Given the description of an element on the screen output the (x, y) to click on. 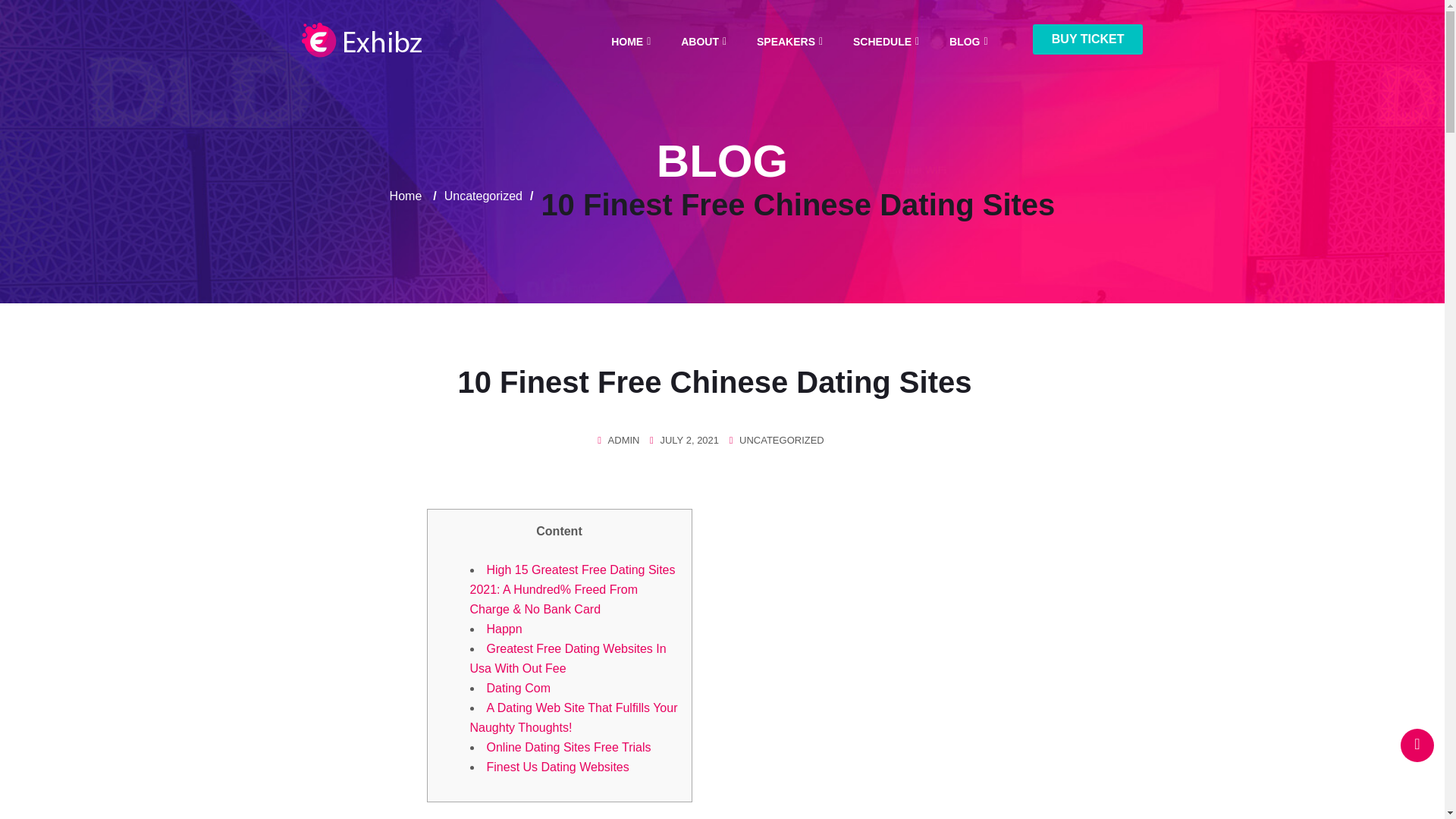
SPEAKERS (785, 41)
Home (406, 195)
ADMIN (624, 439)
UNCATEGORIZED (781, 439)
BUY TICKET (1087, 39)
SCHEDULE (881, 41)
